Given the description of an element on the screen output the (x, y) to click on. 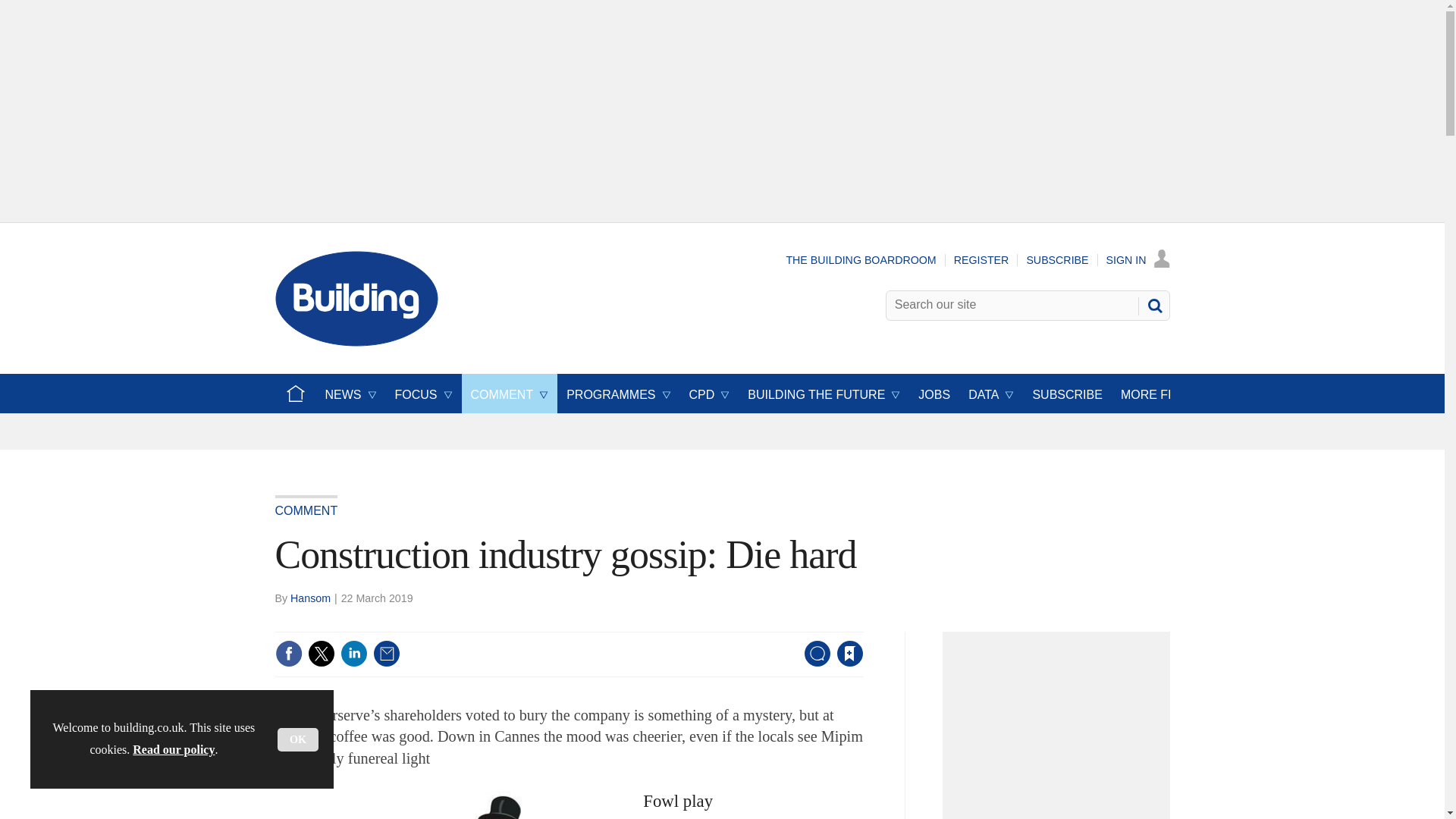
Share this on Facebook (288, 653)
No comments (812, 662)
Share this on Linked in (352, 653)
Share this on Twitter (320, 653)
SUBSCRIBE (1056, 259)
3rd party ad content (1059, 730)
Email this article (386, 653)
Read our policy (173, 748)
OK (298, 739)
THE BUILDING BOARDROOM (861, 259)
REGISTER (981, 259)
Insert Logo text (356, 341)
SEARCH (1153, 305)
SIGN IN (1138, 259)
